Given the description of an element on the screen output the (x, y) to click on. 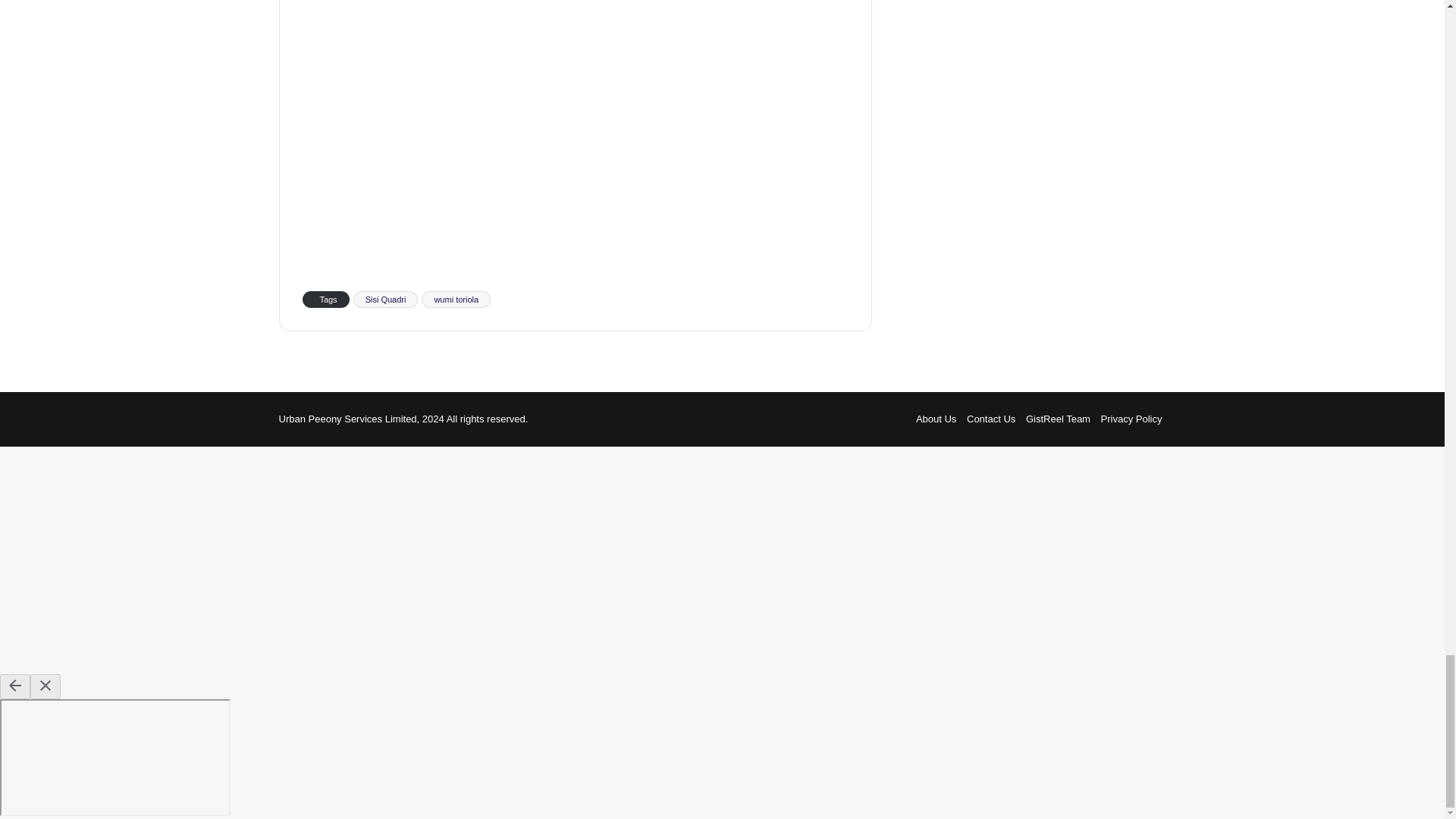
GistReel Team (1058, 419)
Sisi Quadri (386, 299)
Privacy Policy (1130, 419)
Contact Us (990, 419)
About Us (935, 419)
wumi toriola (456, 299)
